Given the description of an element on the screen output the (x, y) to click on. 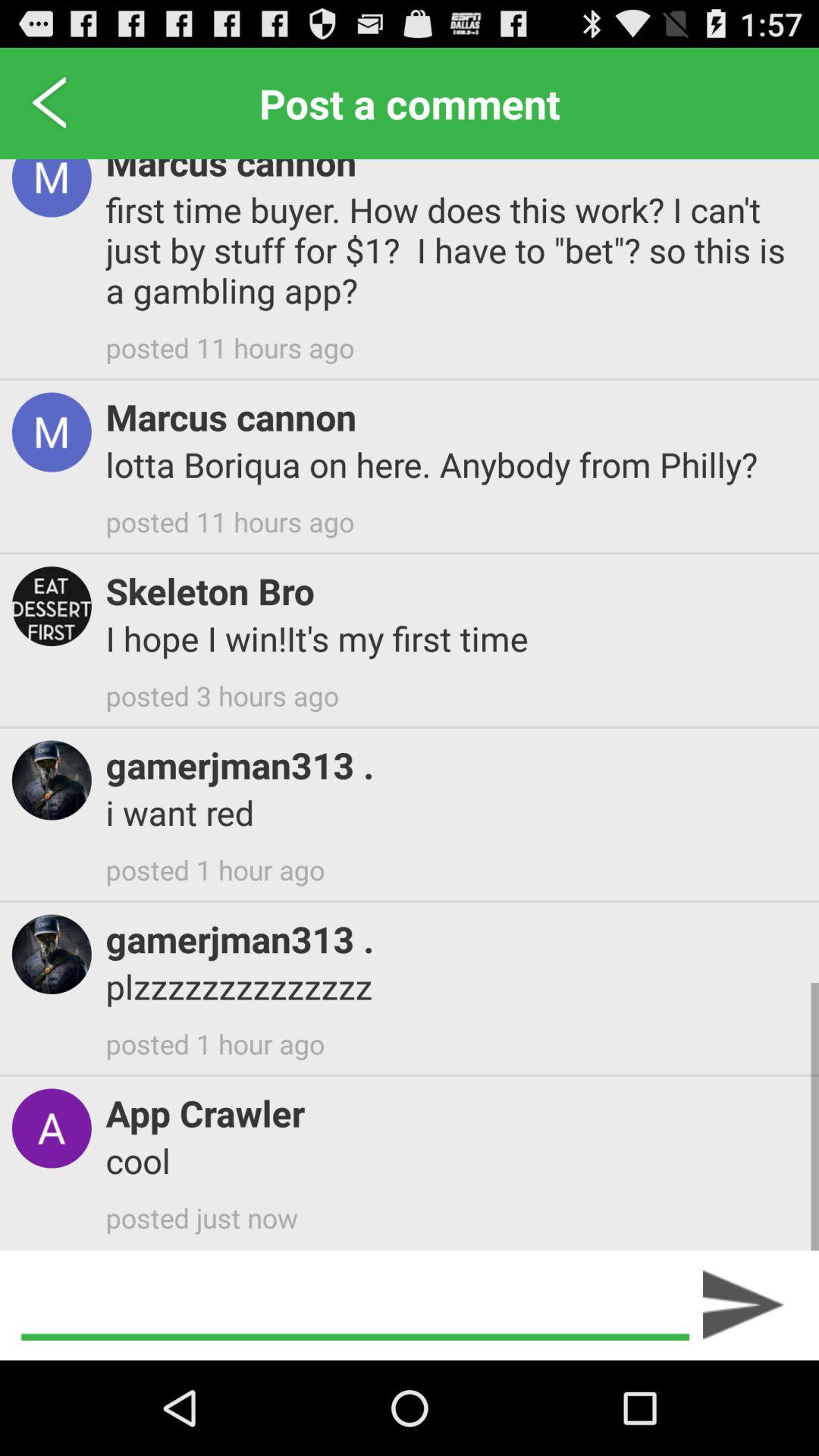
launch the icon at the bottom right corner (744, 1305)
